Given the description of an element on the screen output the (x, y) to click on. 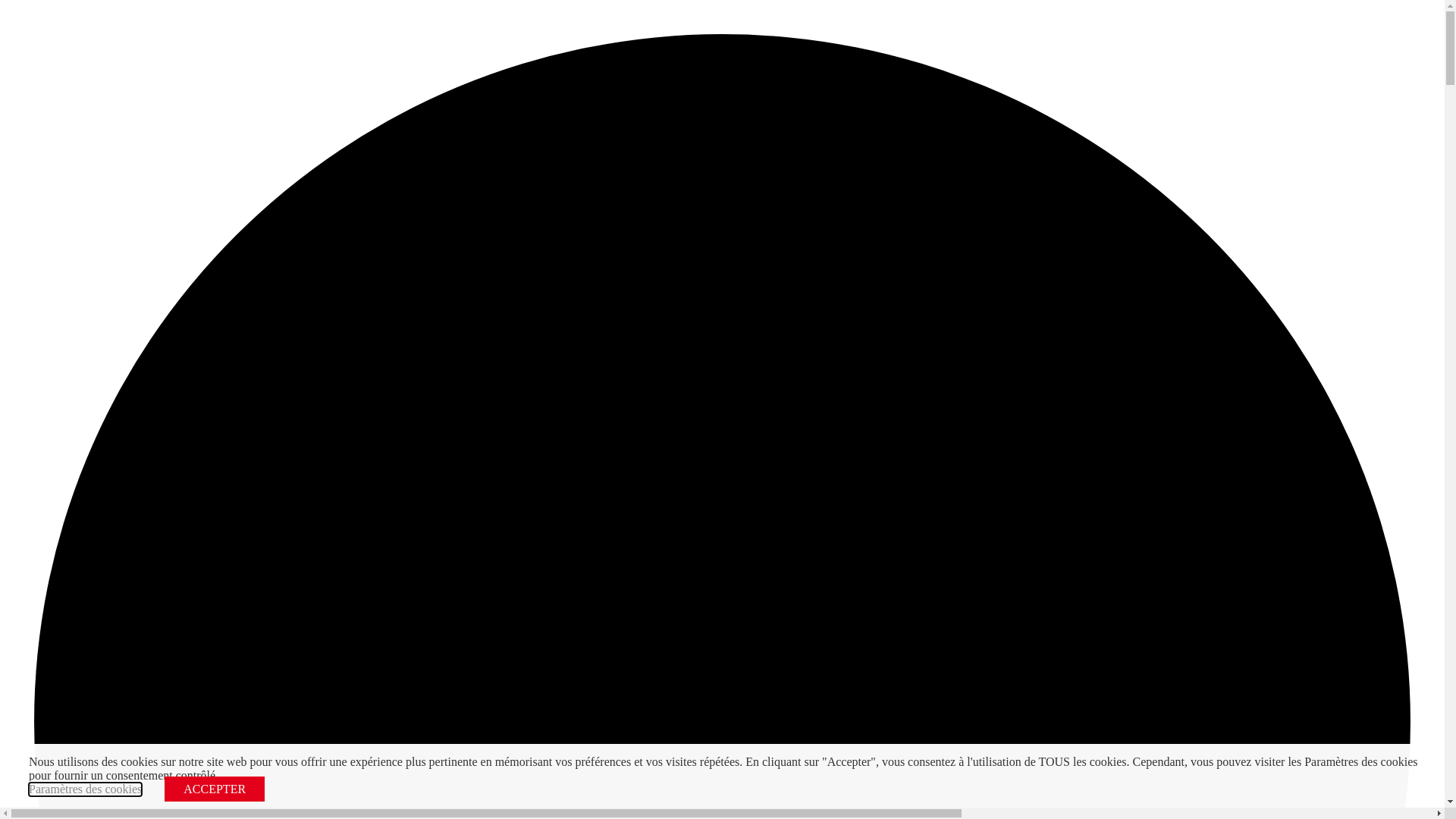
ACCEPTER Element type: text (214, 788)
